Given the description of an element on the screen output the (x, y) to click on. 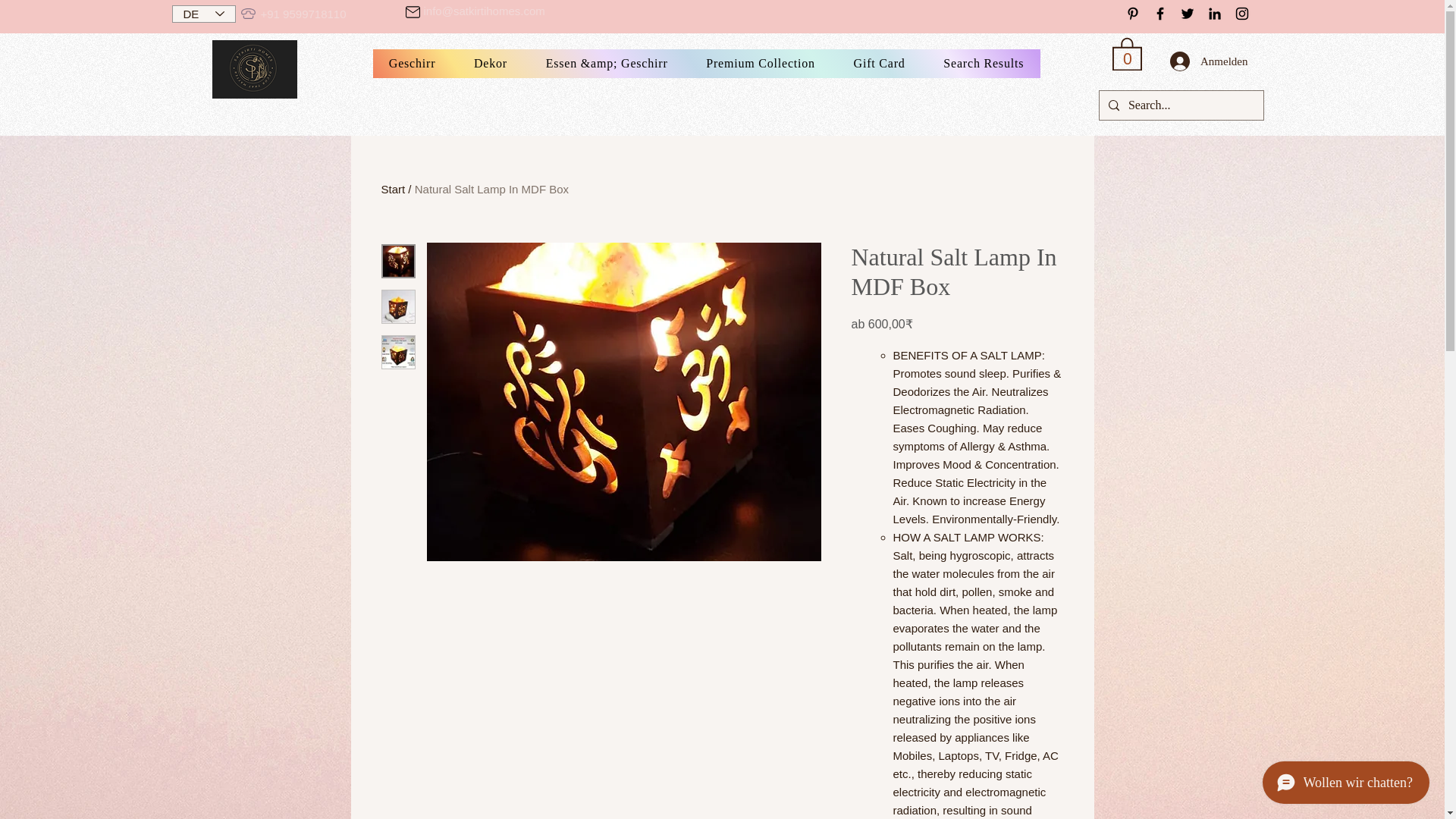
Smile.io Rewards Program Launcher (69, 780)
Gift Card (879, 63)
Search Results (984, 63)
Start (392, 188)
Geschirr (411, 63)
Dekor (491, 63)
Natural Salt Lamp In MDF Box (491, 188)
Anmelden (1207, 61)
Premium Collection (760, 63)
